Given the description of an element on the screen output the (x, y) to click on. 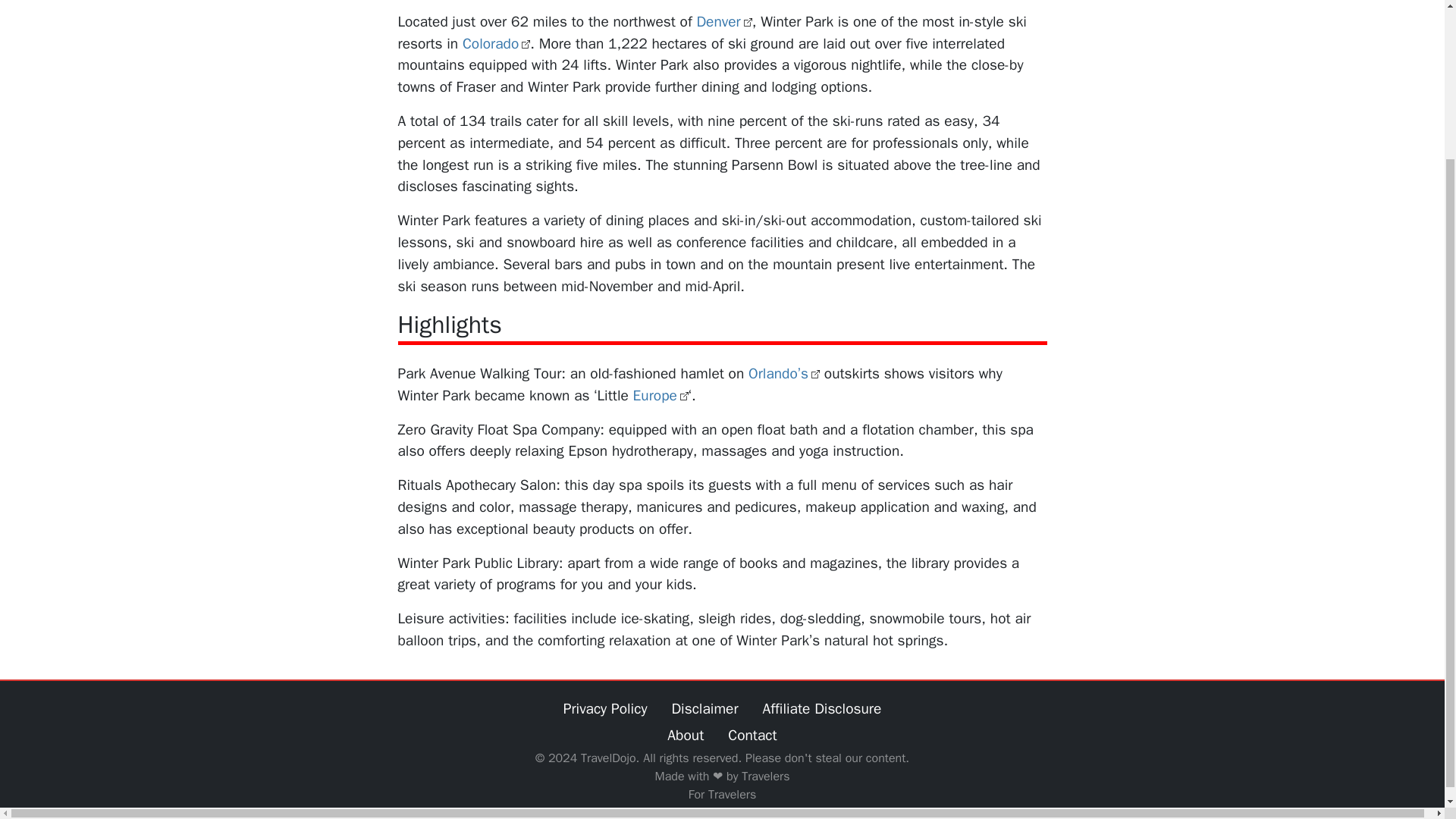
Contact (752, 735)
Colorado (496, 44)
About (685, 735)
Europe (660, 395)
Disclaimer (704, 709)
Privacy Policy (605, 709)
Denver (723, 22)
Affiliate Disclosure (822, 709)
